Given the description of an element on the screen output the (x, y) to click on. 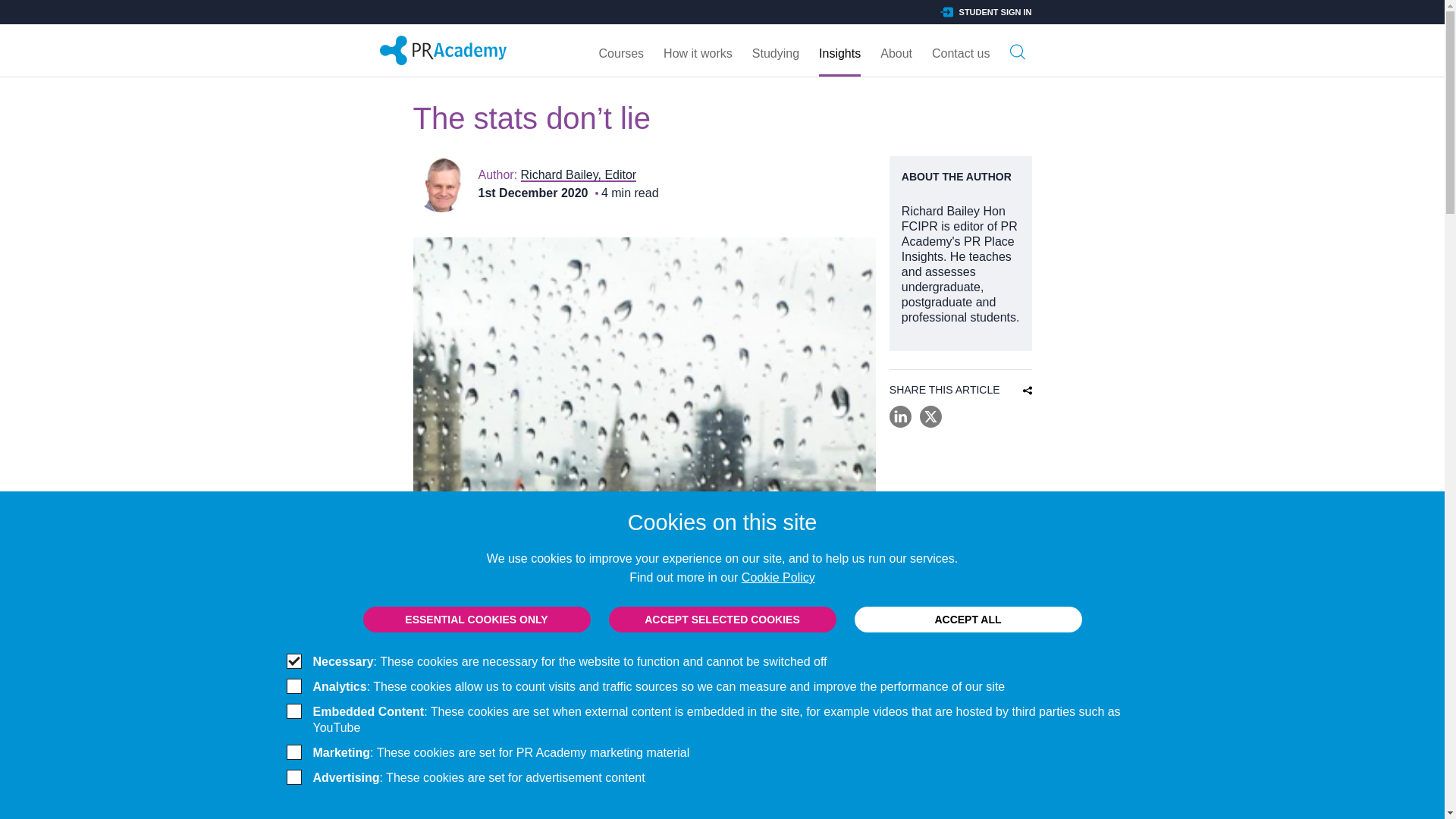
Insights (839, 50)
Courses (621, 50)
STUDENT SIGN IN (986, 11)
Studying (775, 50)
About (896, 50)
How it works (697, 50)
Richard Bailey, Editor (579, 174)
Contact us (960, 50)
ESSENTIAL COOKIES ONLY (475, 619)
Cookie Policy (778, 576)
